Given the description of an element on the screen output the (x, y) to click on. 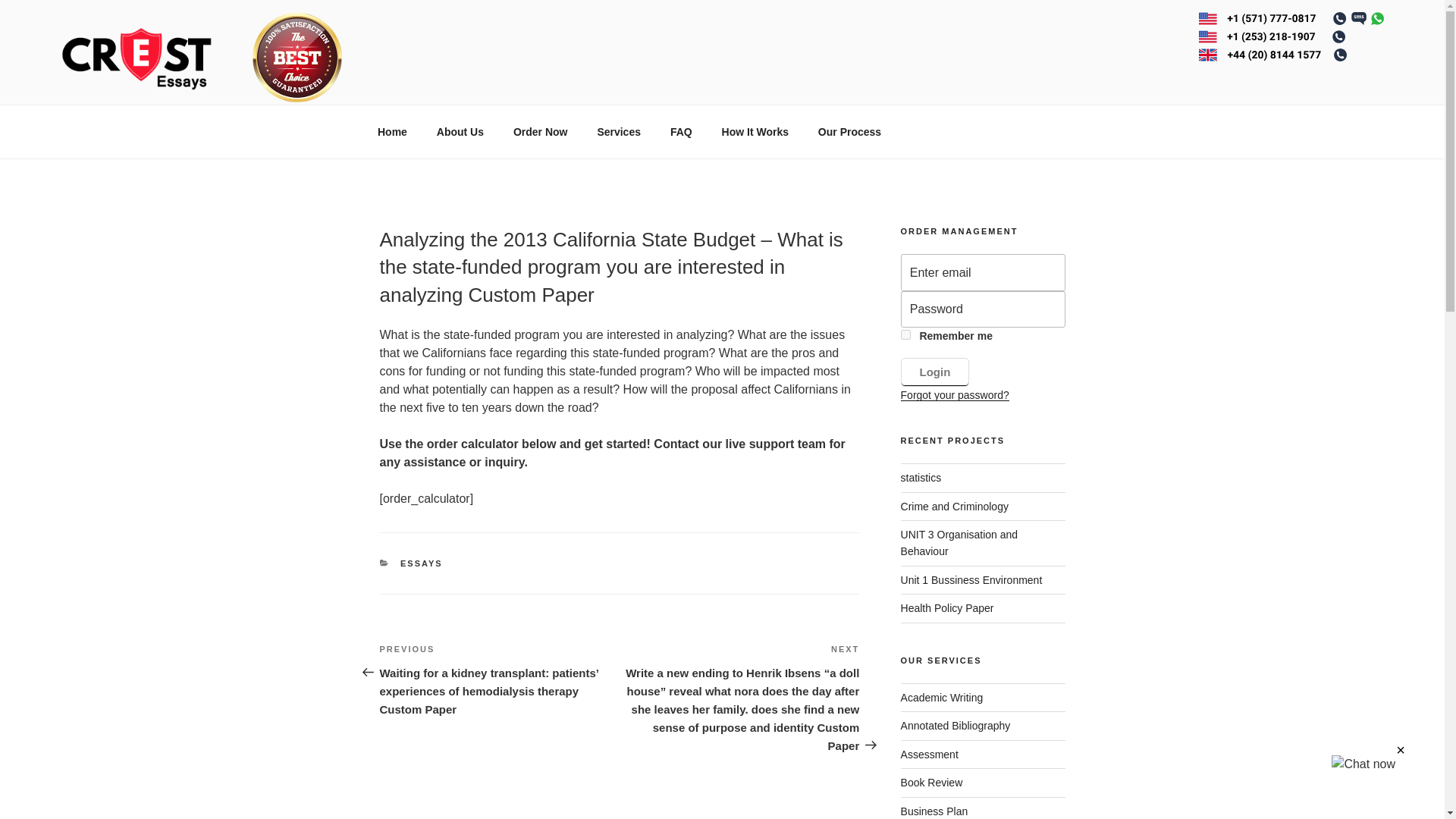
Forgot your password? (955, 395)
Unit 1 Bussiness Environment (971, 580)
Recover password (955, 395)
Order Now (539, 131)
Services (618, 131)
Book Review (931, 782)
How It Works (754, 131)
UNIT 3 Organisation and Behaviour (959, 542)
Our Process (849, 131)
Crime and Criminology (955, 506)
click to Login (935, 371)
Academic Writing (942, 697)
About Us (459, 131)
FAQ (680, 131)
Annotated Bibliography (955, 725)
